Given the description of an element on the screen output the (x, y) to click on. 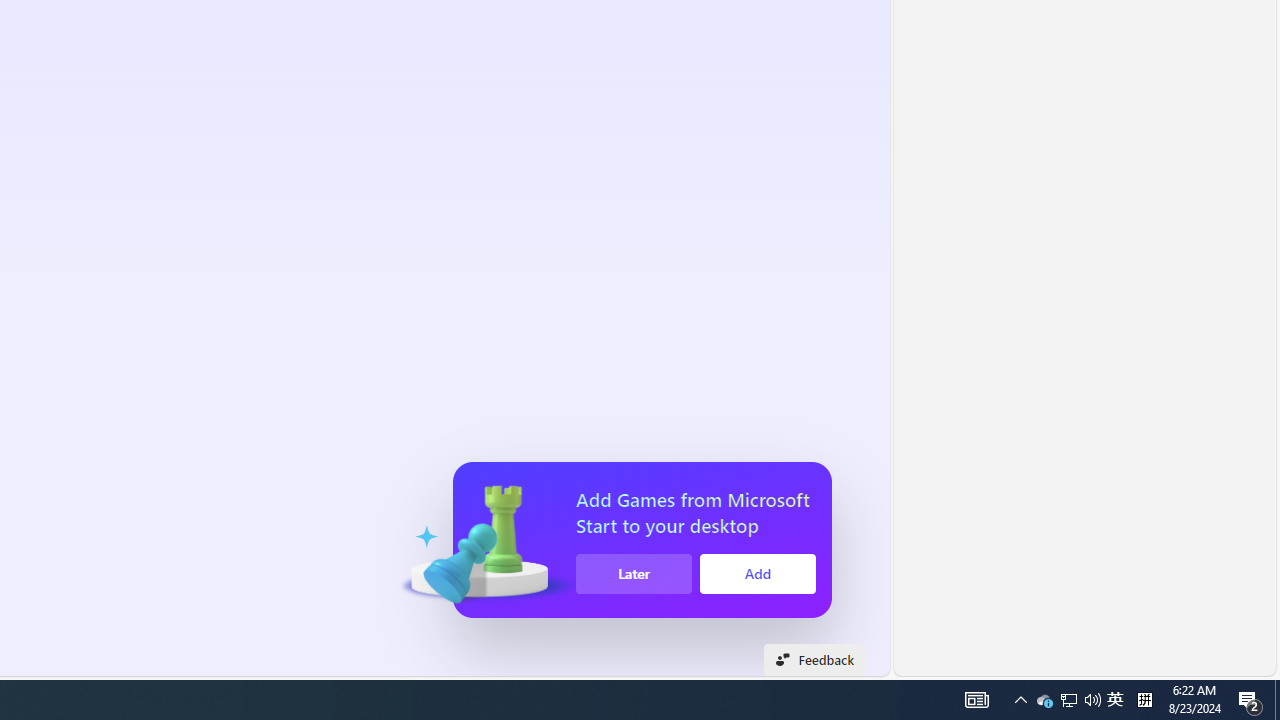
Later (633, 573)
Class: pwa-upsell-icon (482, 539)
Add (757, 573)
